Given the description of an element on the screen output the (x, y) to click on. 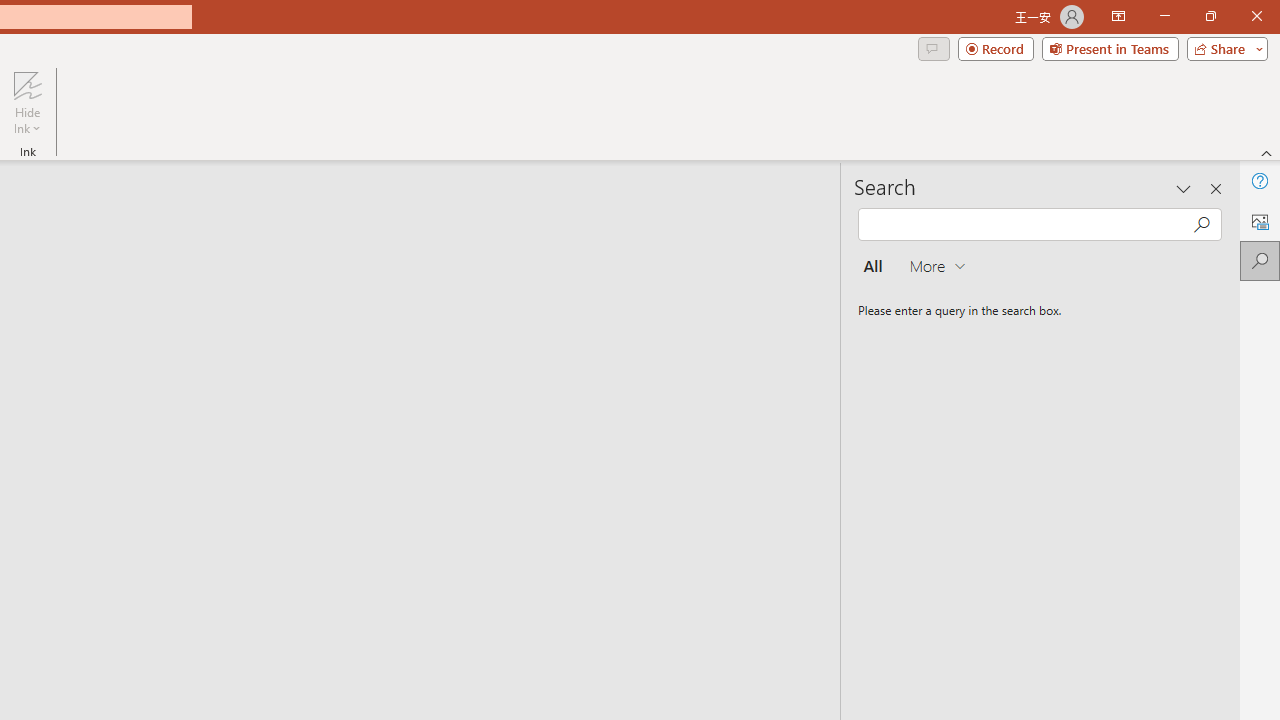
Close pane (1215, 188)
Alt Text (1260, 220)
Task Pane Options (1183, 188)
